Given the description of an element on the screen output the (x, y) to click on. 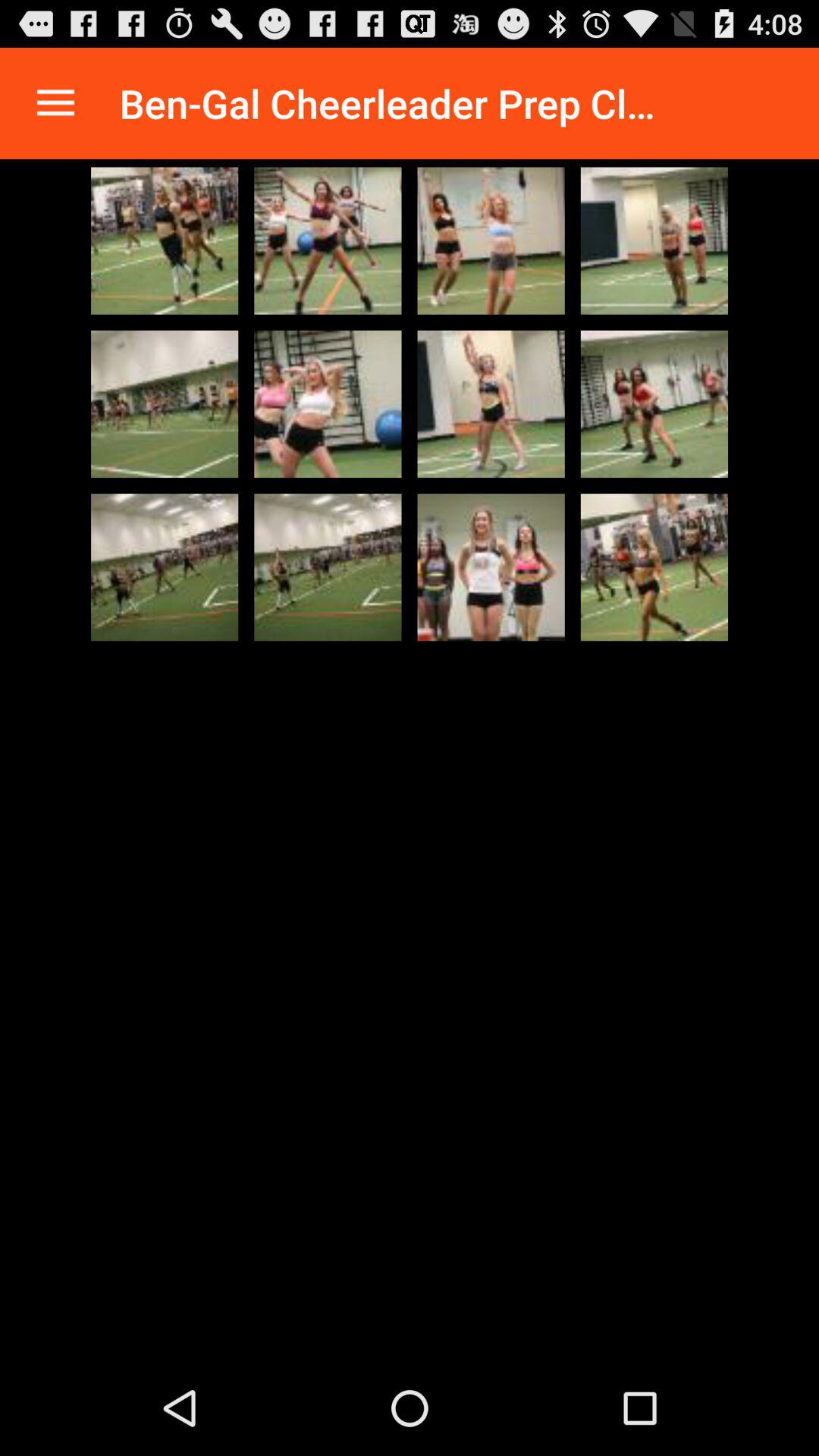
people doing exercises (327, 240)
